Given the description of an element on the screen output the (x, y) to click on. 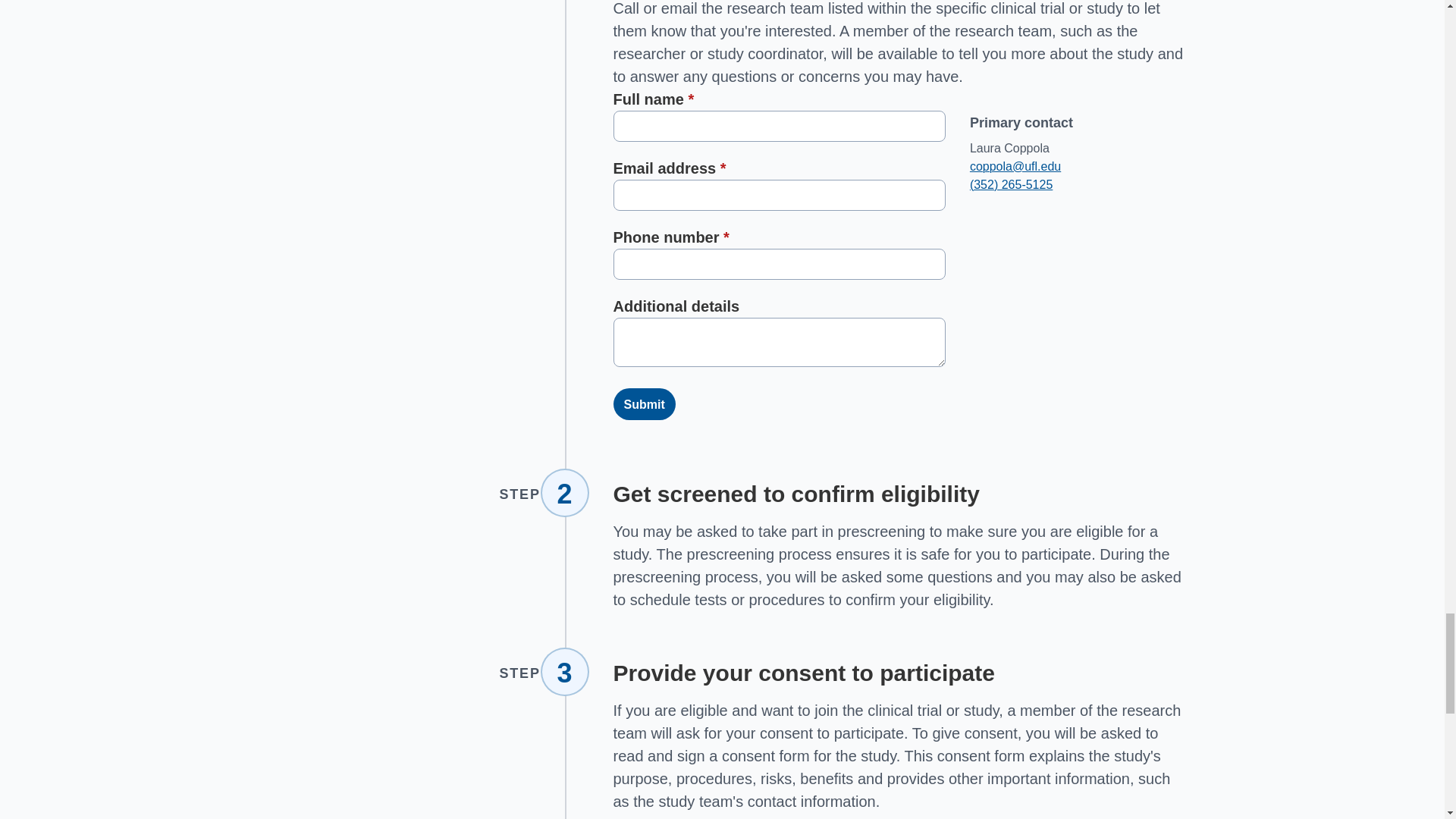
Submit (643, 404)
